Given the description of an element on the screen output the (x, y) to click on. 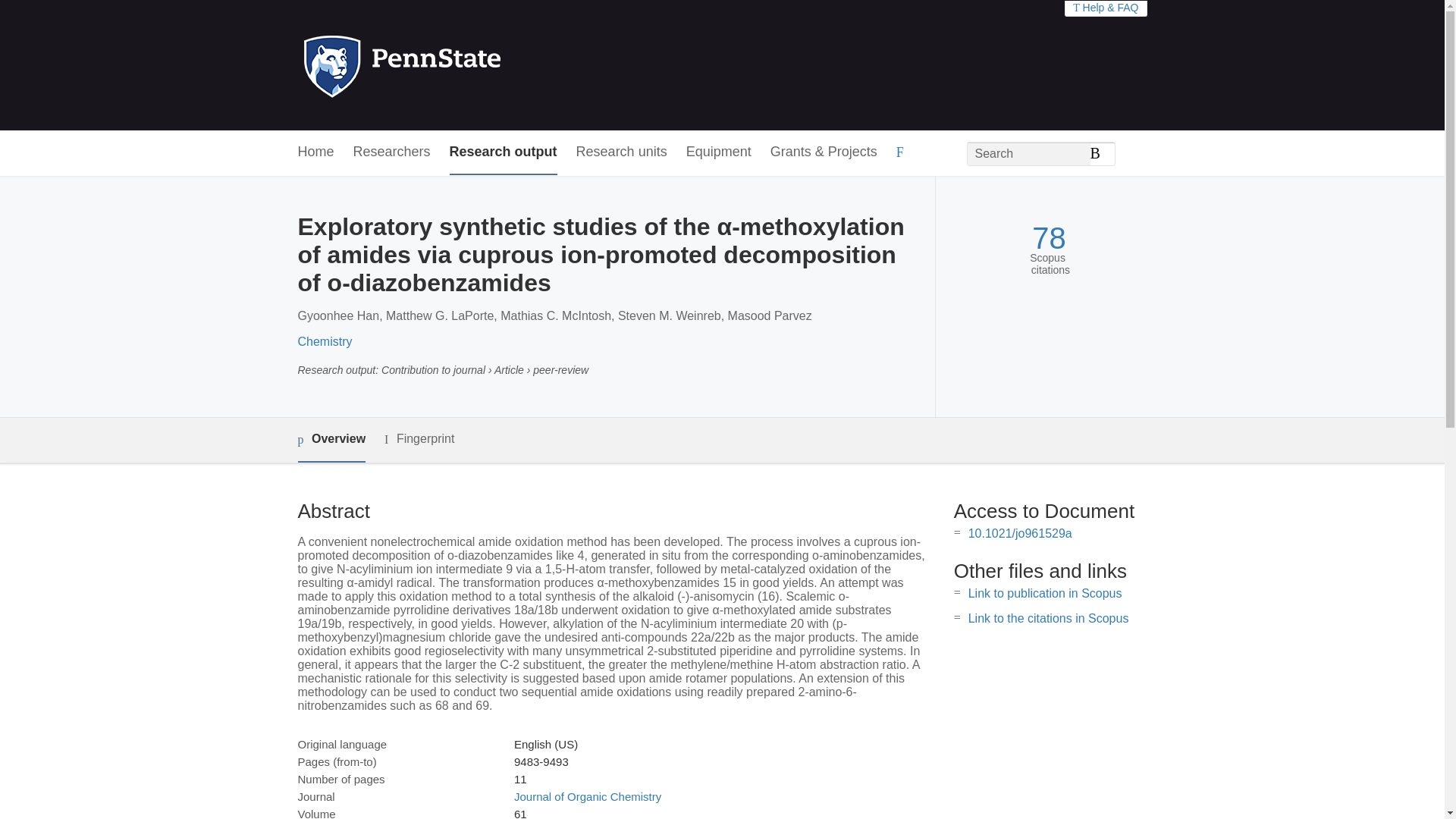
Researchers (391, 152)
Research output (503, 152)
Link to the citations in Scopus (1048, 617)
Link to publication in Scopus (1045, 593)
78 (1048, 238)
Research units (621, 152)
Equipment (718, 152)
Penn State Home (467, 65)
Overview (331, 439)
Fingerprint (419, 439)
